Given the description of an element on the screen output the (x, y) to click on. 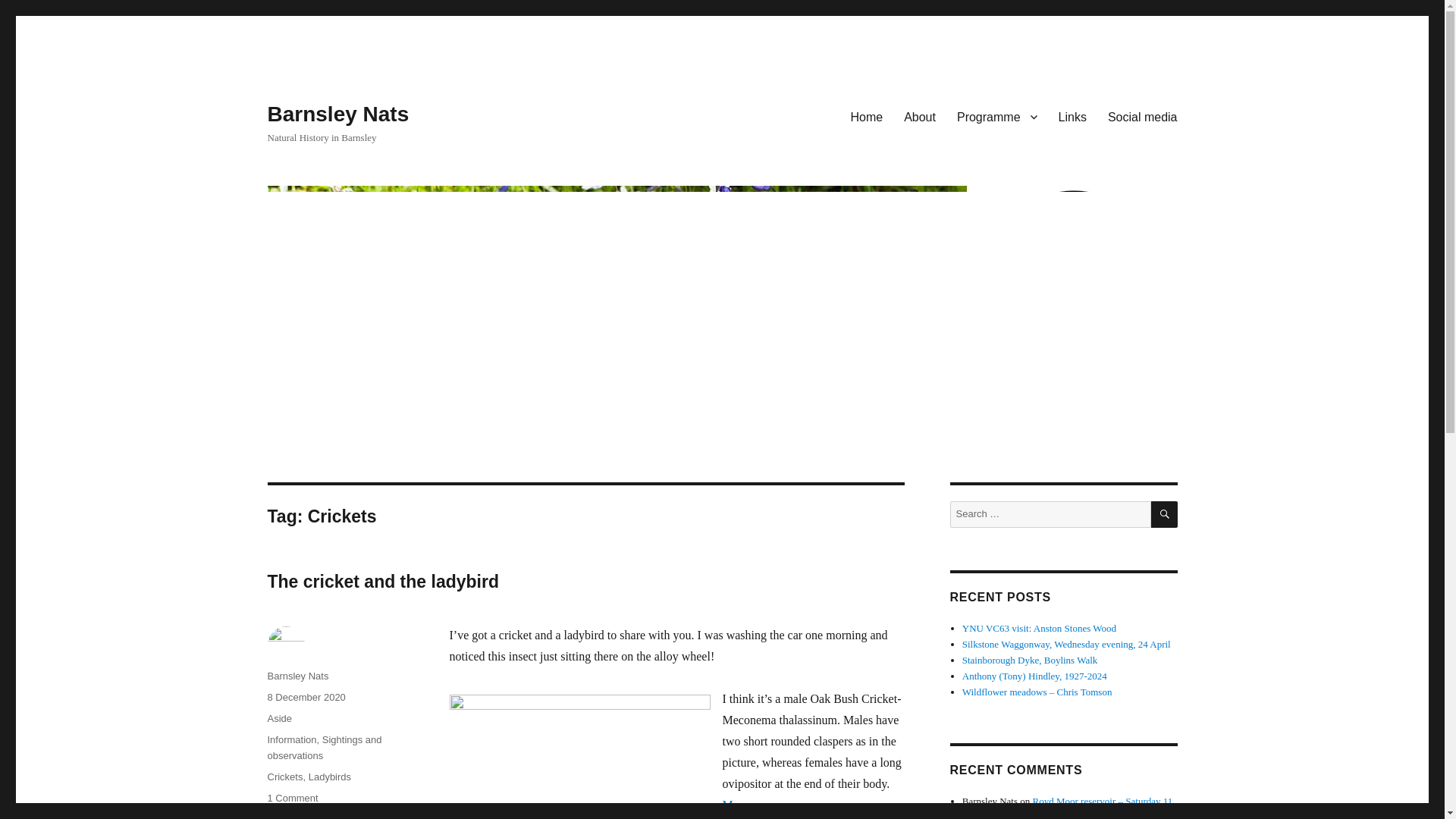
Home (866, 116)
About (919, 116)
8 December 2020 (305, 696)
More (735, 804)
Aside (279, 717)
SEARCH (1164, 514)
YNU VC63 visit: Anston Stones Wood (291, 797)
Stainborough Dyke, Boylins Walk (1039, 627)
The cricket and the ladybird (1029, 659)
Barnsley Nats (381, 581)
Programme (297, 675)
Social media (997, 116)
Sightings and observations (1142, 116)
Ladybirds (323, 747)
